Given the description of an element on the screen output the (x, y) to click on. 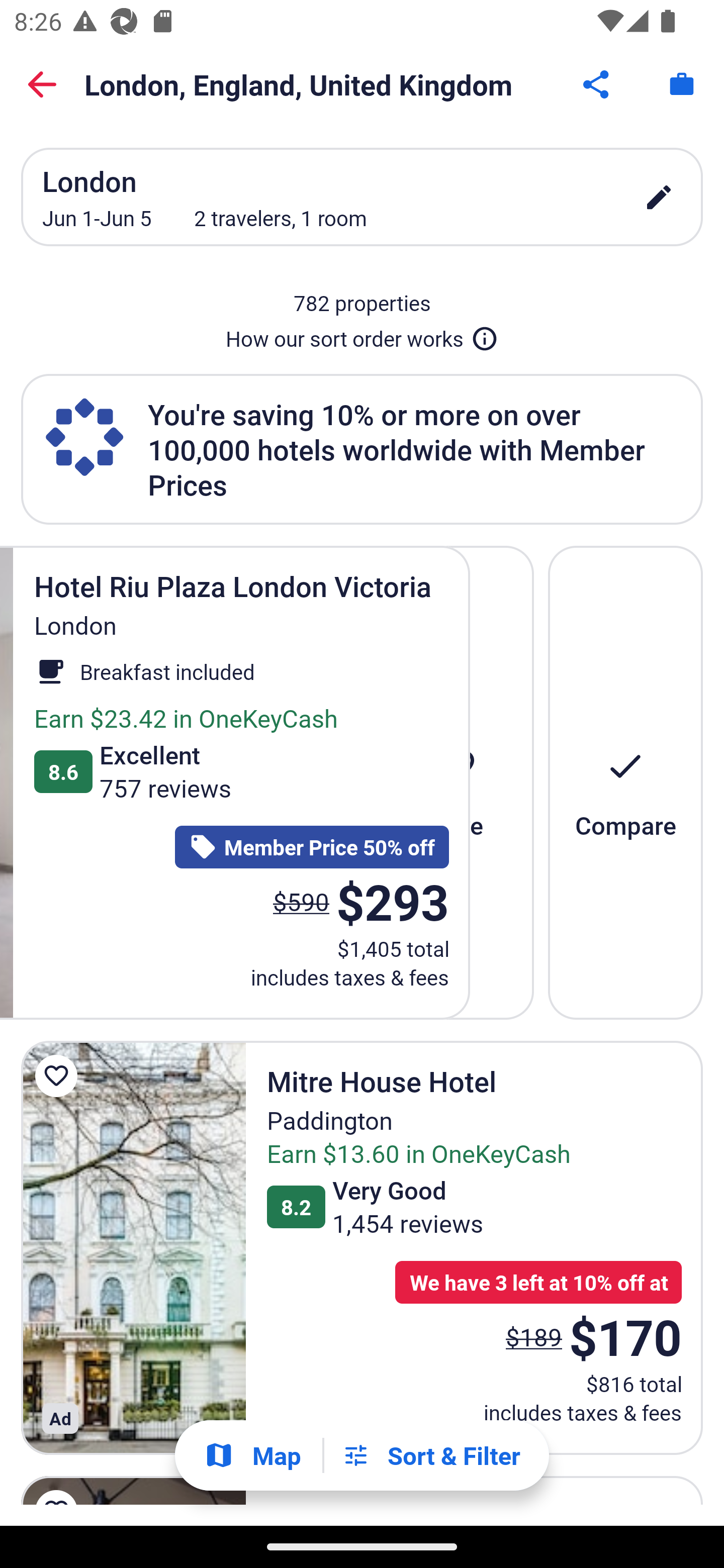
Back (42, 84)
Share Button (597, 84)
Trips. Button (681, 84)
London Jun 1-Jun 5 2 travelers, 1 room edit (361, 196)
How our sort order works (361, 334)
Compare (625, 782)
$590 The price was $590 (301, 901)
Save Mitre House Hotel to a trip (59, 1075)
Mitre House Hotel (133, 1248)
$189 The price was $189 (533, 1336)
Filters Sort & Filter Filters Button (430, 1455)
Show map Map Show map Button (252, 1455)
